Given the description of an element on the screen output the (x, y) to click on. 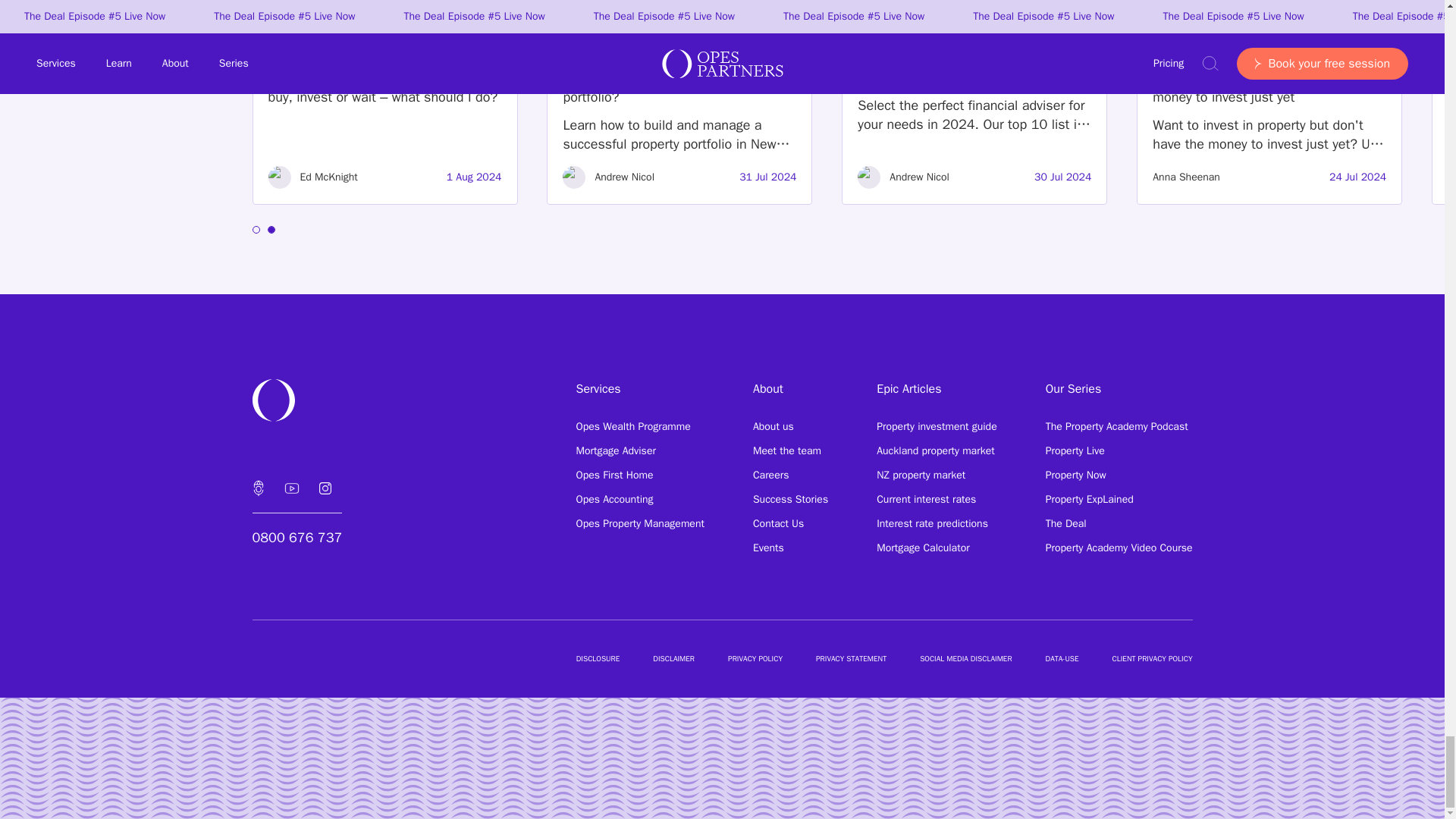
Published on Wednesday 31st July, 2024 (767, 177)
Instagram (323, 488)
YouTube (290, 488)
Published on Tuesday 30th July, 2024 (1061, 177)
Podcast (258, 488)
Published on Thursday 1st August, 2024 (474, 177)
Published on Wednesday 24th July, 2024 (1357, 177)
